Given the description of an element on the screen output the (x, y) to click on. 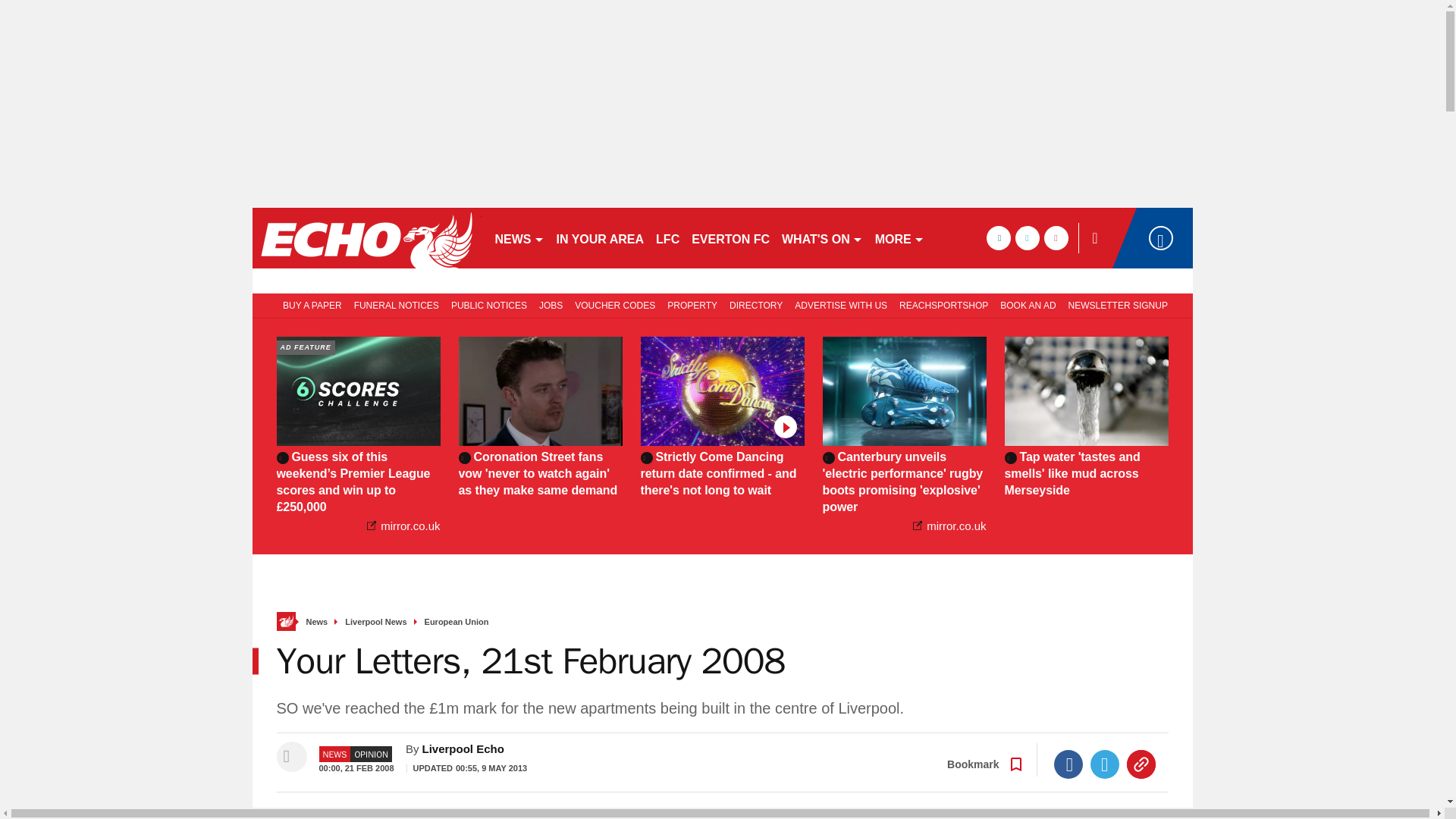
liverpoolecho (365, 238)
NEWS (518, 238)
MORE (899, 238)
twitter (1026, 238)
instagram (1055, 238)
facebook (997, 238)
Facebook (1068, 764)
WHAT'S ON (822, 238)
EVERTON FC (730, 238)
Twitter (1104, 764)
